Given the description of an element on the screen output the (x, y) to click on. 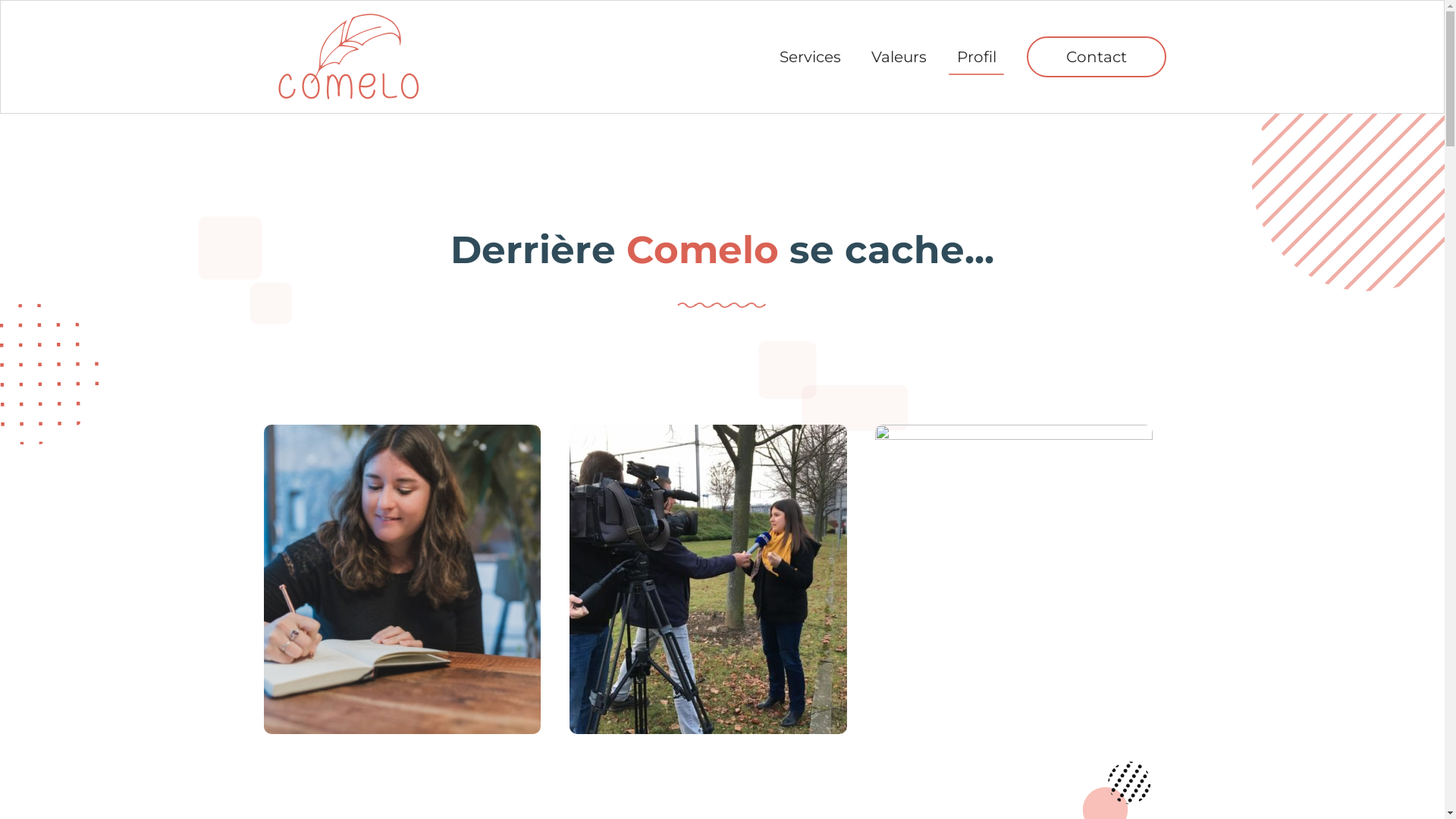
Contact Element type: text (1096, 56)
Profil Element type: text (976, 56)
Valeurs Element type: text (898, 56)
Services Element type: text (810, 56)
